Given the description of an element on the screen output the (x, y) to click on. 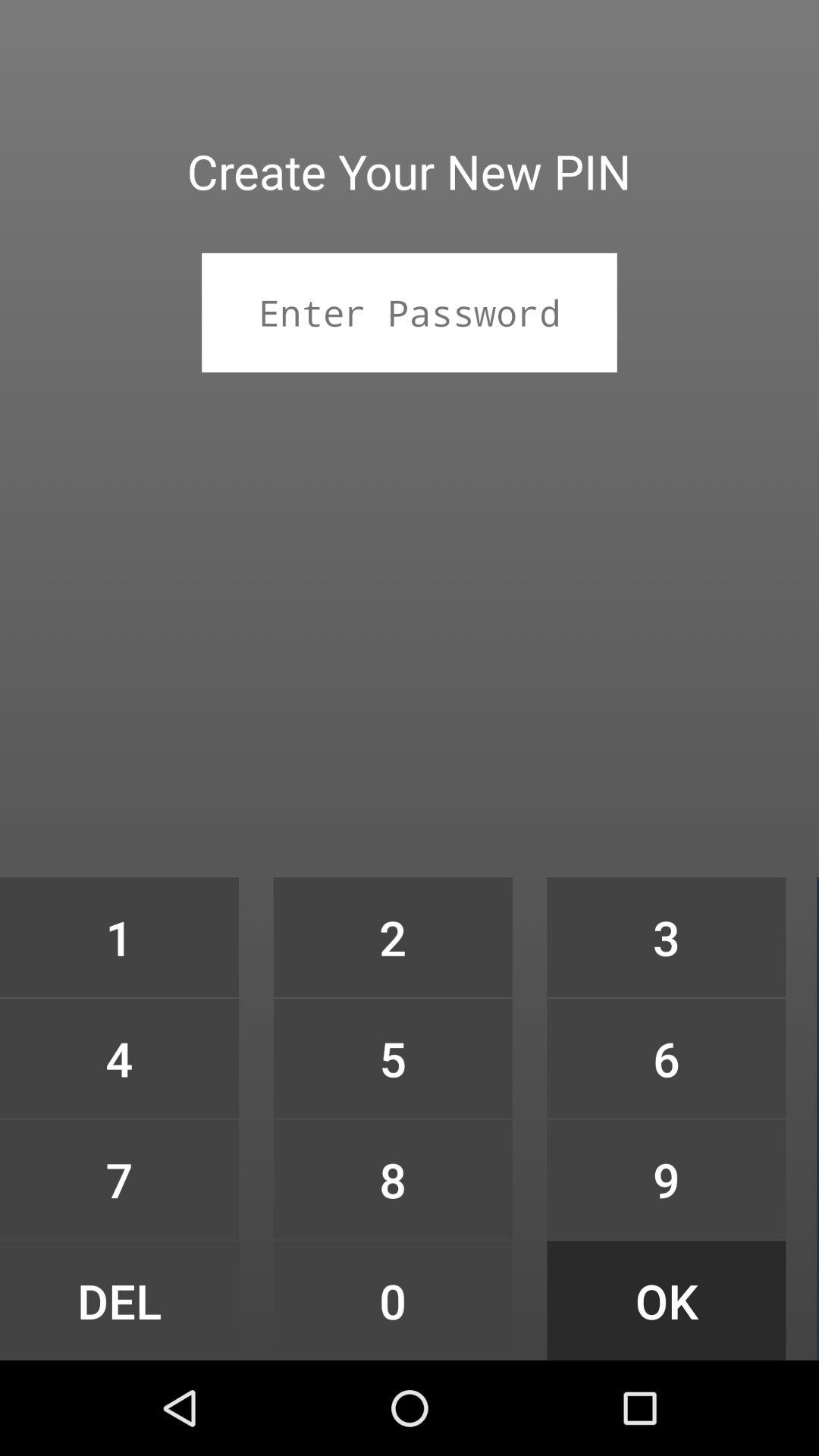
jump until the 9 item (666, 1179)
